Given the description of an element on the screen output the (x, y) to click on. 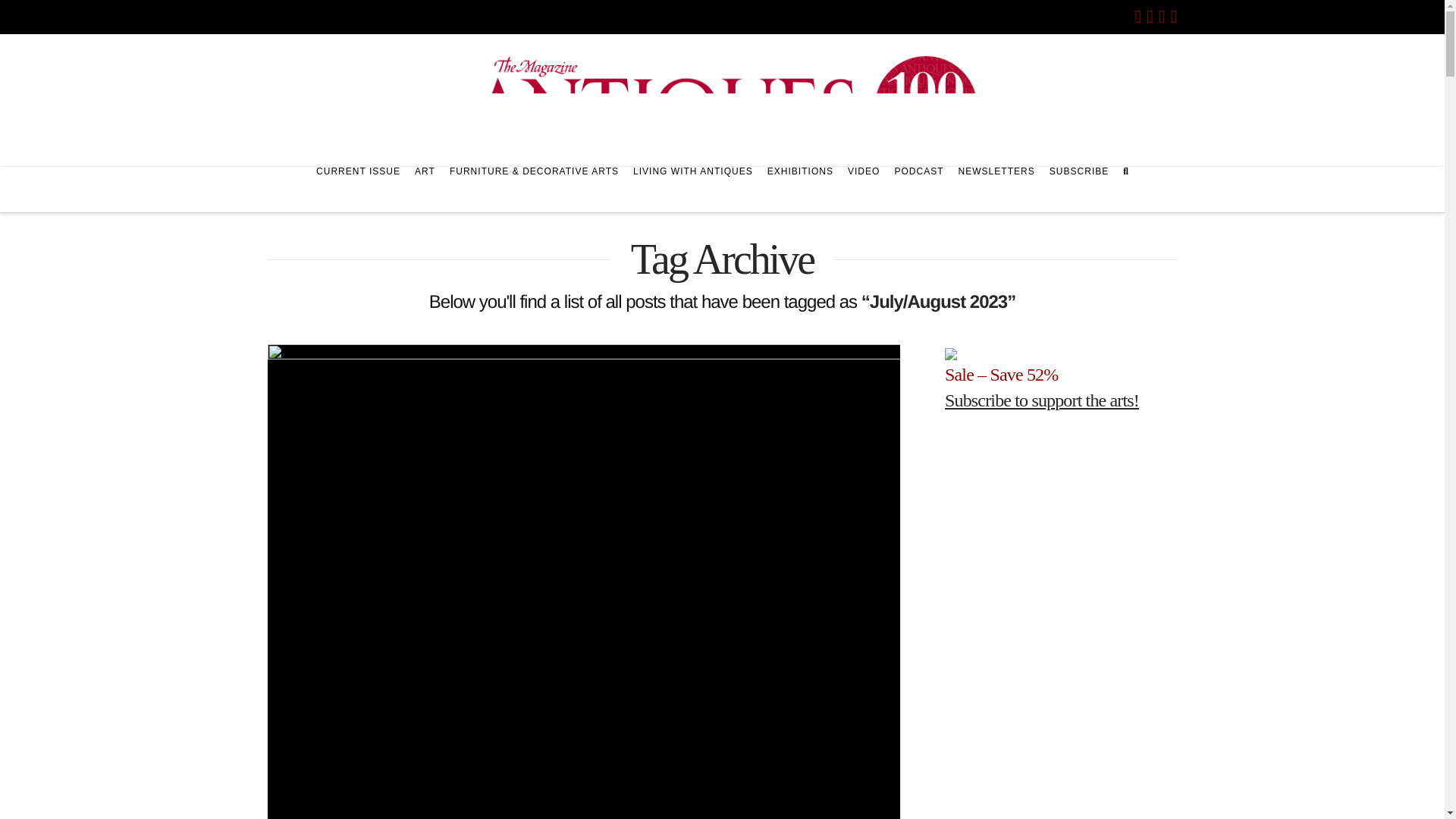
SUBSCRIBE (1079, 189)
NEWSLETTERS (996, 189)
EXHIBITIONS (800, 189)
PODCAST (918, 189)
CURRENT ISSUE (357, 189)
LIVING WITH ANTIQUES (693, 189)
VIDEO (863, 189)
